Given the description of an element on the screen output the (x, y) to click on. 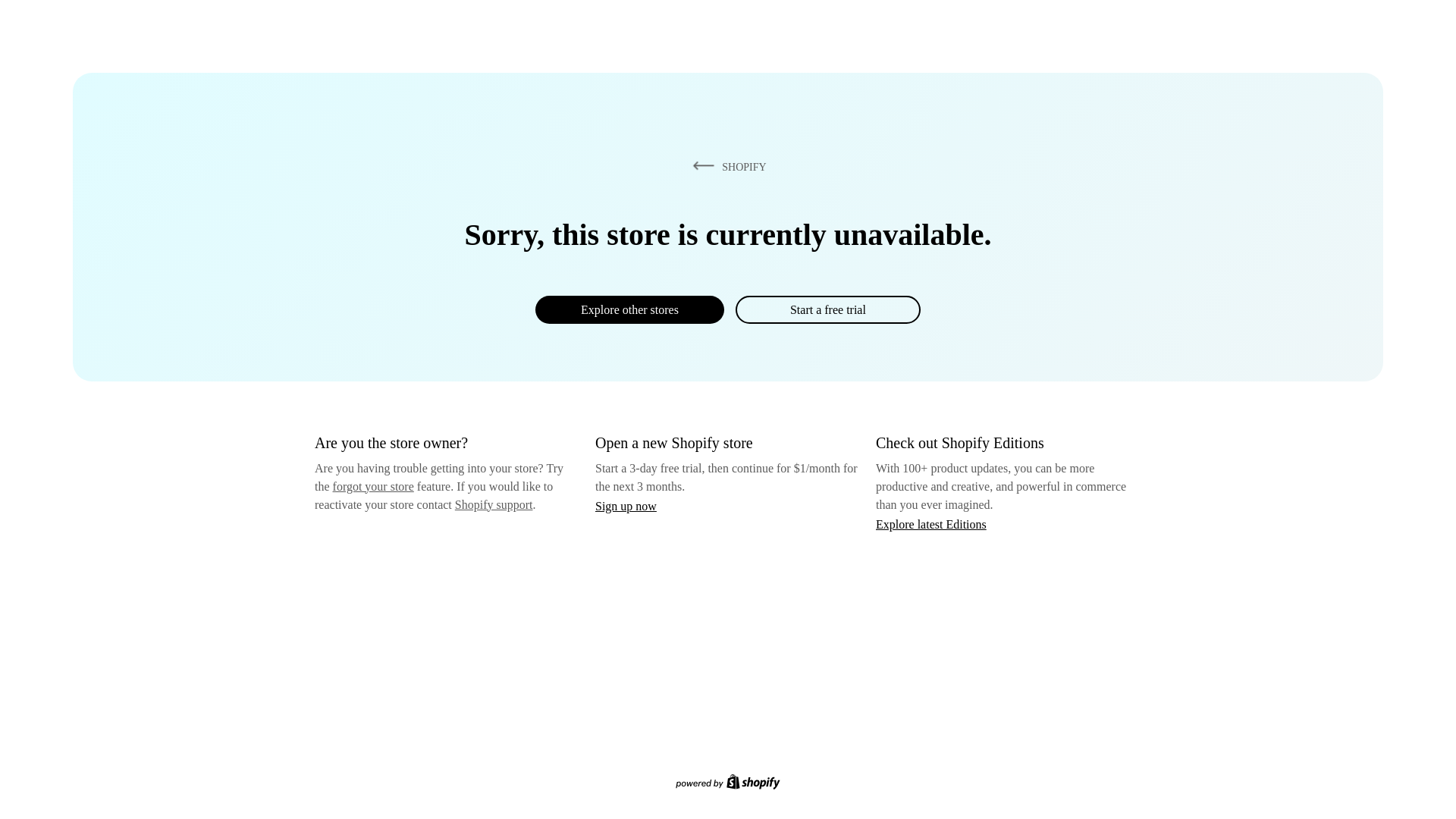
Explore other stores (629, 309)
SHOPIFY (726, 166)
Start a free trial (827, 309)
Shopify support (493, 504)
Sign up now (625, 505)
Explore latest Editions (931, 523)
forgot your store (373, 486)
